Given the description of an element on the screen output the (x, y) to click on. 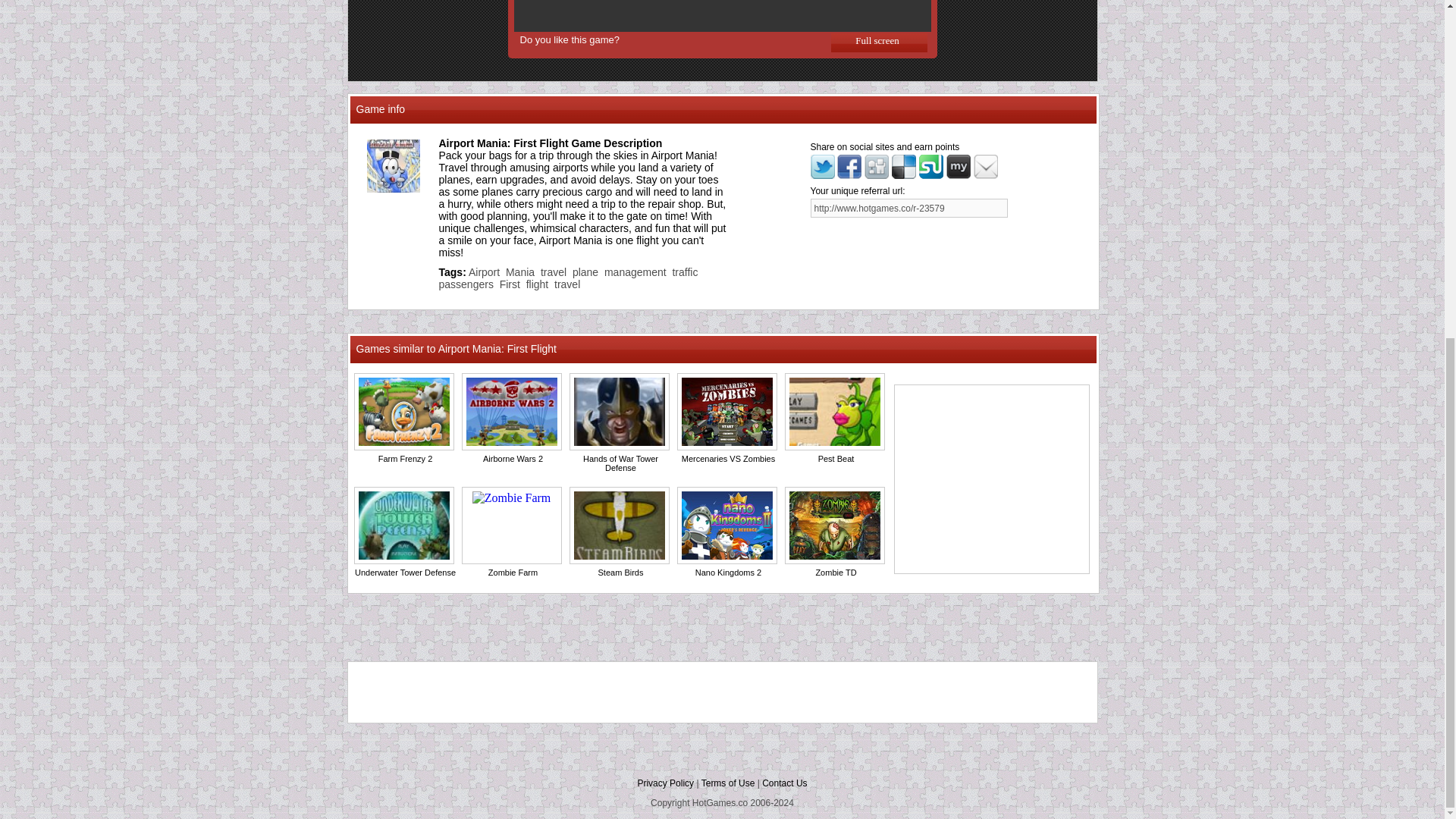
Airborne Wars 2 (513, 458)
Email (985, 174)
Email (985, 166)
travel (566, 284)
Underwater Tower Defense (405, 572)
Pest Beat (836, 458)
Myspace (958, 166)
plane (585, 272)
Digg (876, 174)
Mercenaries VS Zombies (728, 458)
traffic (684, 272)
Stumbleupon (930, 174)
Airport (483, 272)
Hands of War Tower Defense (620, 463)
Delicious (903, 166)
